Given the description of an element on the screen output the (x, y) to click on. 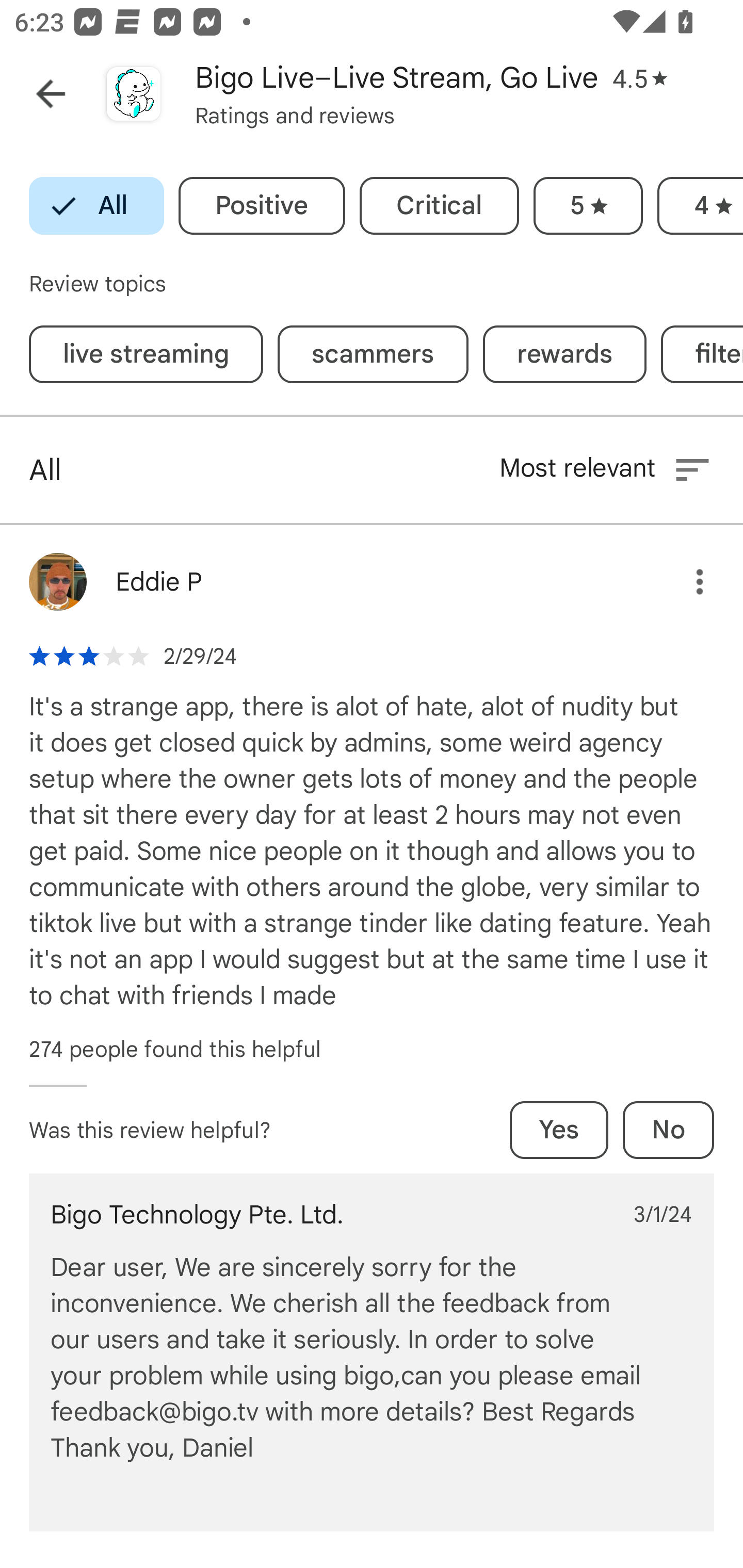
Navigate up (50, 93)
All (96, 206)
Positive (261, 206)
Critical (439, 206)
5 5 Stars (587, 206)
4 4 Stars (700, 206)
live streaming (145, 354)
scammers (372, 354)
rewards (564, 354)
Most relevant (606, 469)
Options (685, 581)
Yes (558, 1129)
No (668, 1129)
